Given the description of an element on the screen output the (x, y) to click on. 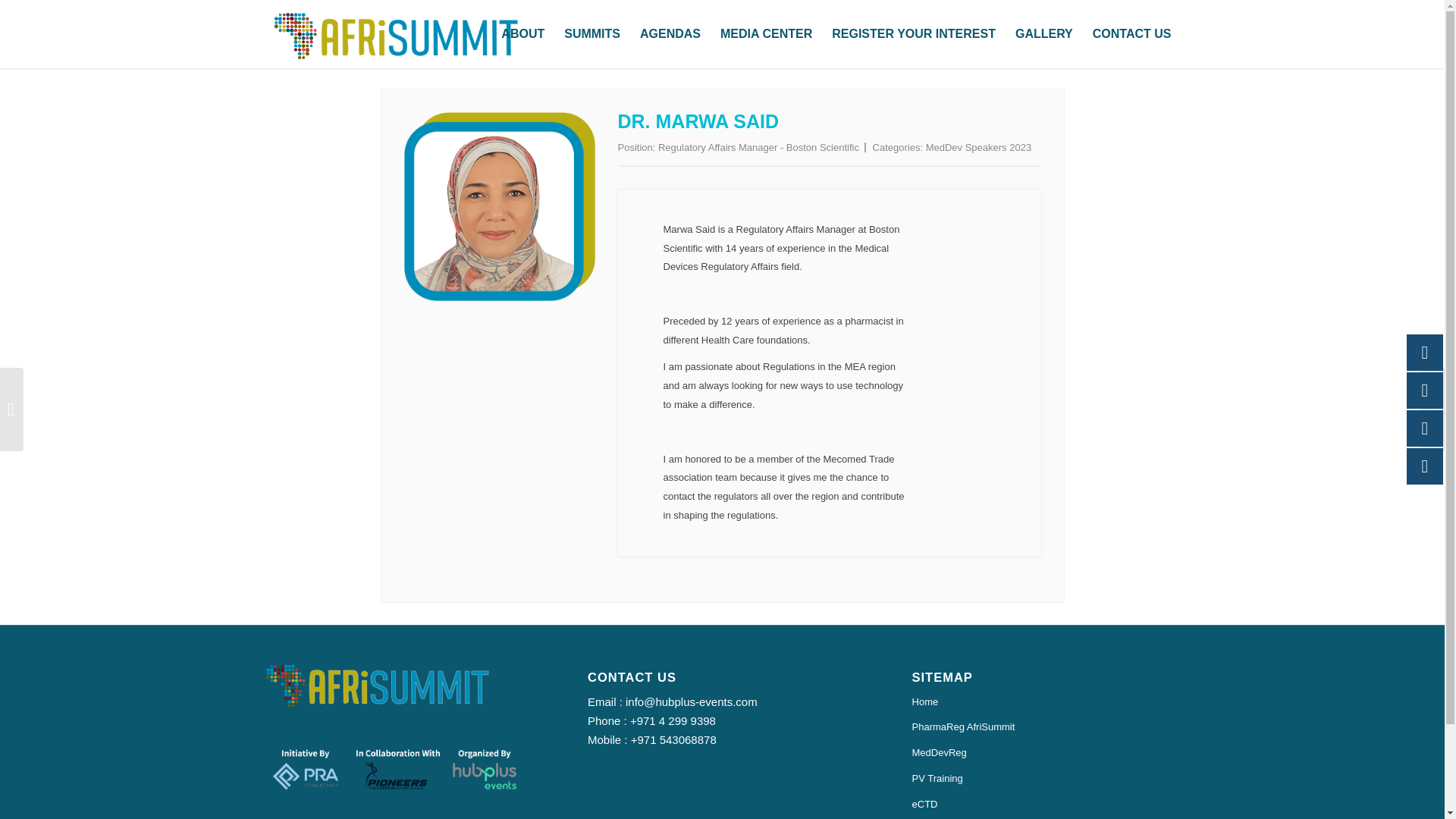
Home (1046, 702)
SUMMITS (592, 33)
GALLERY (1044, 33)
MEDIA CENTER (766, 33)
AGENDAS (670, 33)
PV Training (1046, 779)
REGISTER YOUR INTEREST (914, 33)
ABOUT (523, 33)
PharmaReg AfriSummit (1046, 727)
CONTACT US (1131, 33)
eCTD (1046, 805)
MedDevReg (1046, 753)
